Given the description of an element on the screen output the (x, y) to click on. 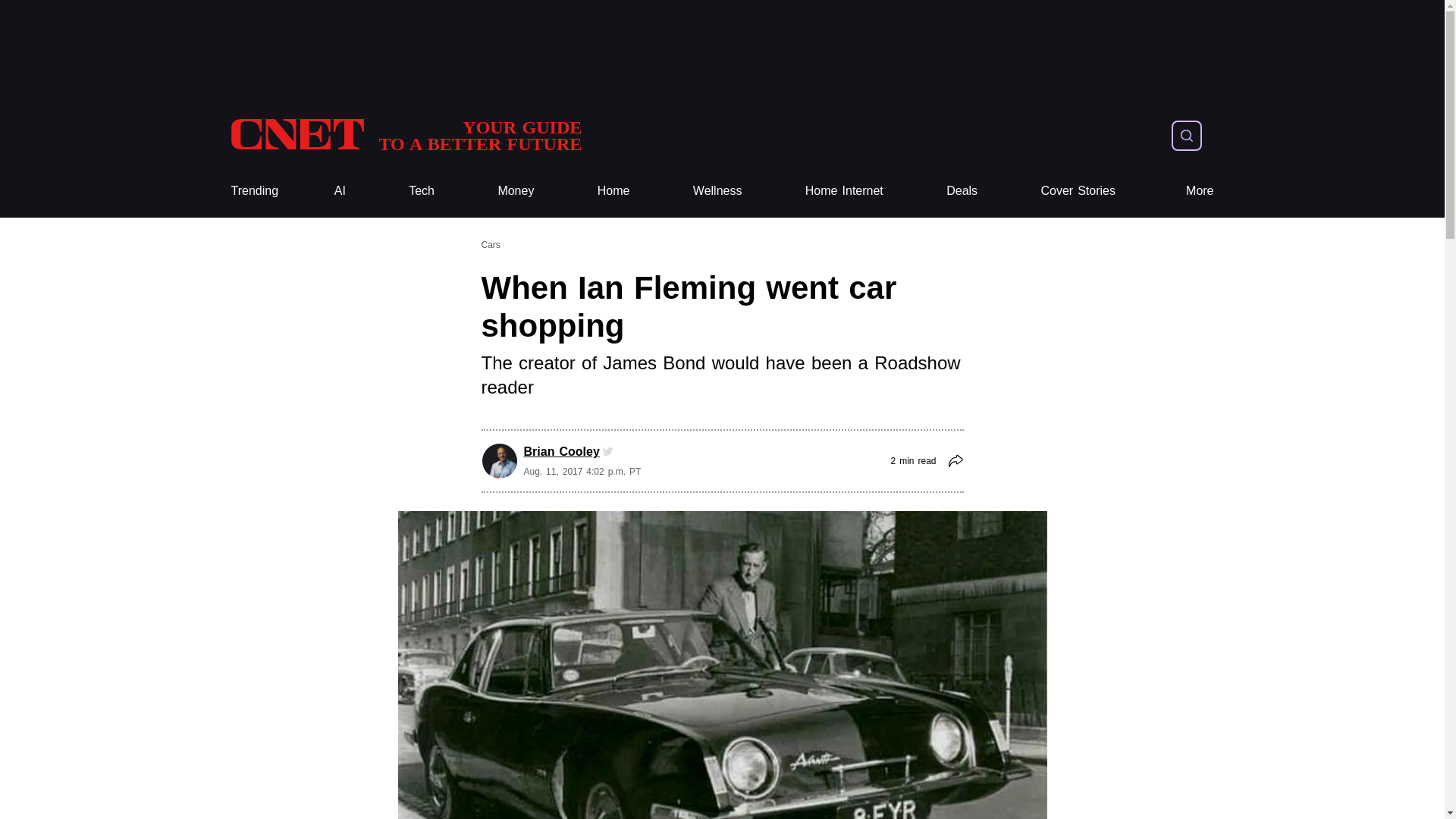
Trending (254, 190)
Cover Stories (1078, 190)
Home Internet (844, 190)
More (1199, 190)
Trending (405, 135)
Wellness (254, 190)
Home (717, 190)
Wellness (613, 190)
Money (717, 190)
